Given the description of an element on the screen output the (x, y) to click on. 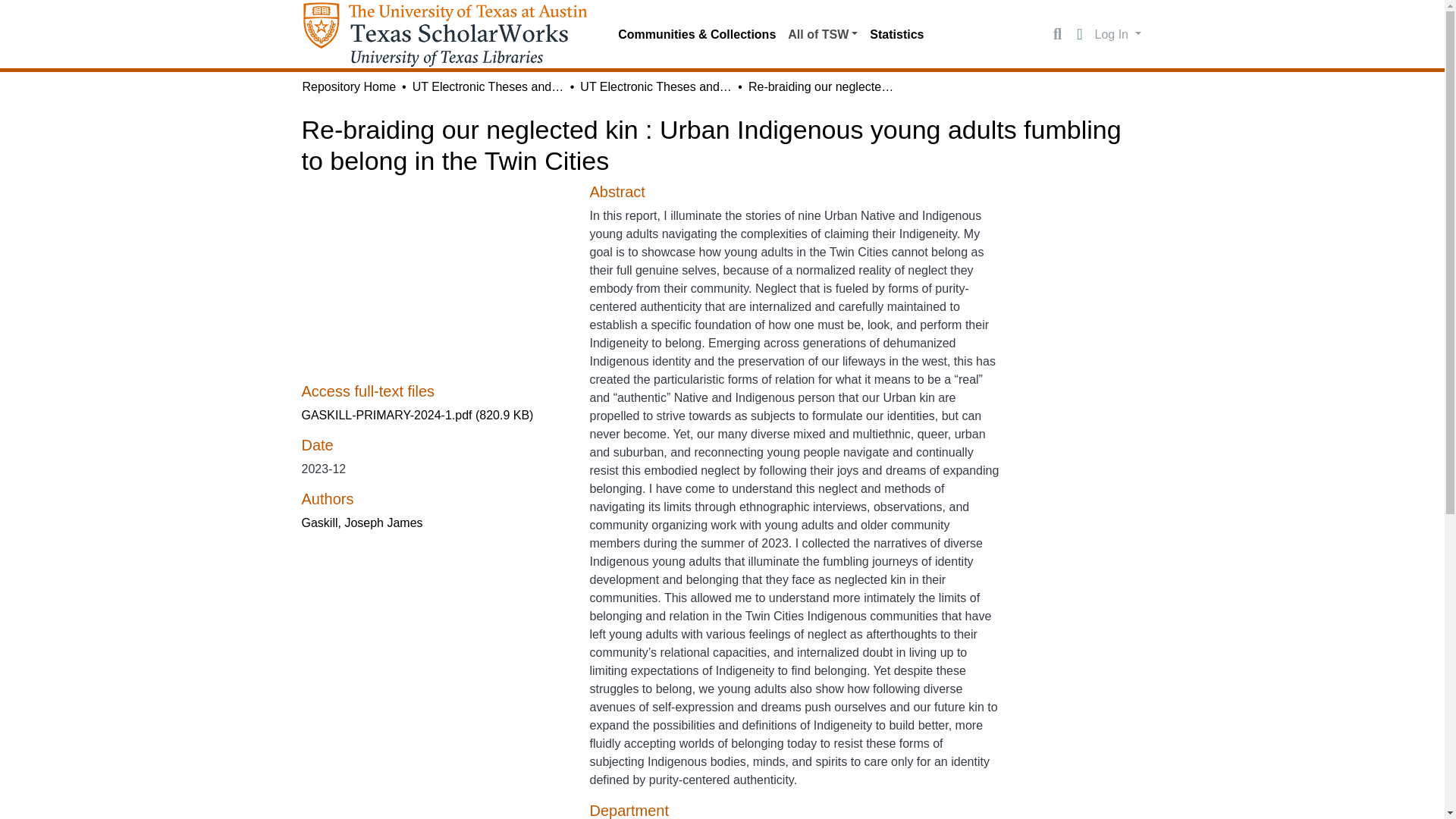
Log In (1117, 33)
UT Electronic Theses and Dissertations (488, 86)
All of TSW (822, 34)
Statistics (896, 34)
Statistics (896, 34)
Gaskill, Joseph James (362, 522)
UT Electronic Theses and Dissertations (655, 86)
Search (1057, 34)
Language switch (1079, 34)
Repository Home (348, 86)
